Given the description of an element on the screen output the (x, y) to click on. 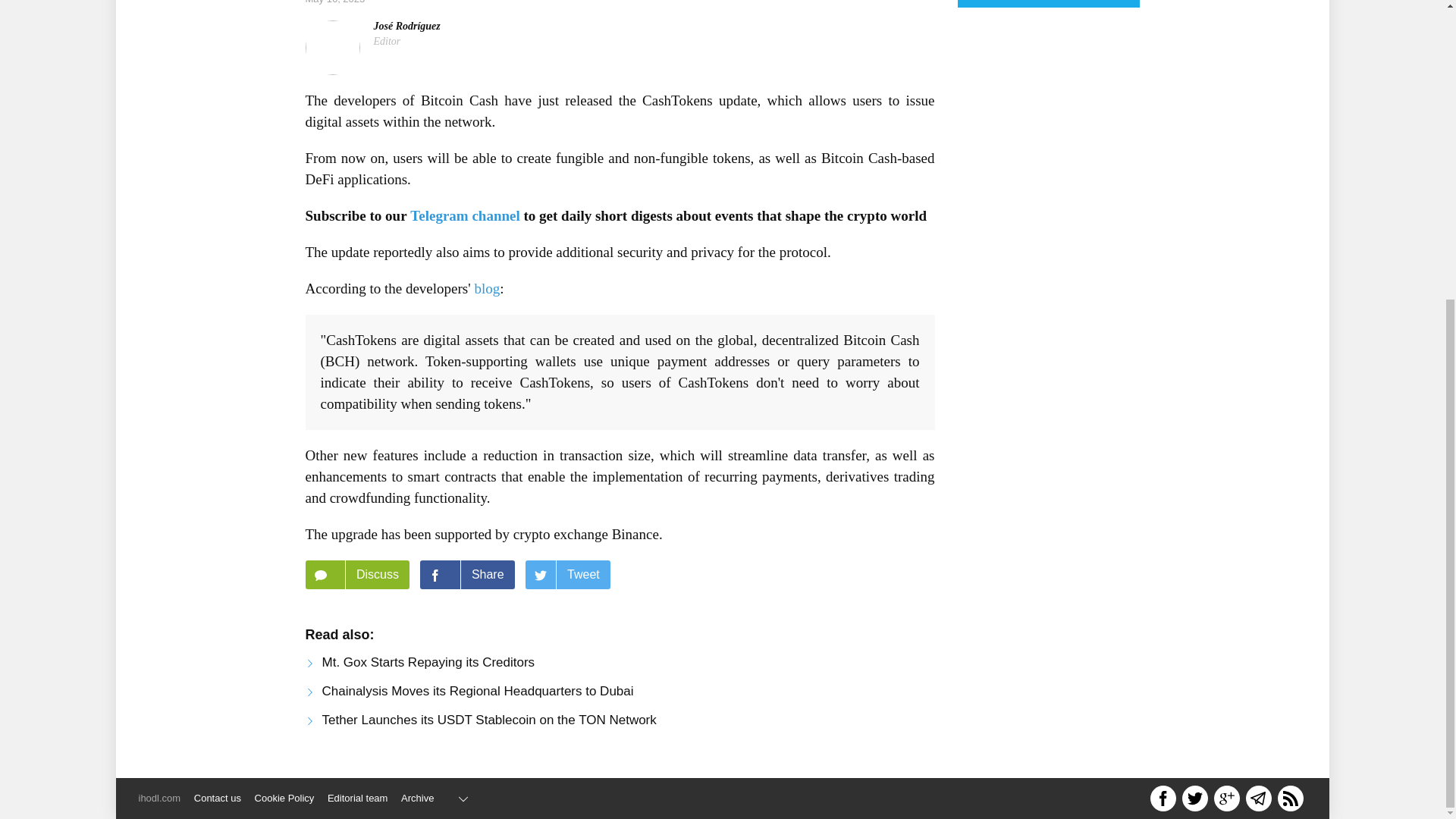
Discuss (356, 574)
Editor (386, 41)
blog (486, 288)
Telegram channel (464, 215)
